Given the description of an element on the screen output the (x, y) to click on. 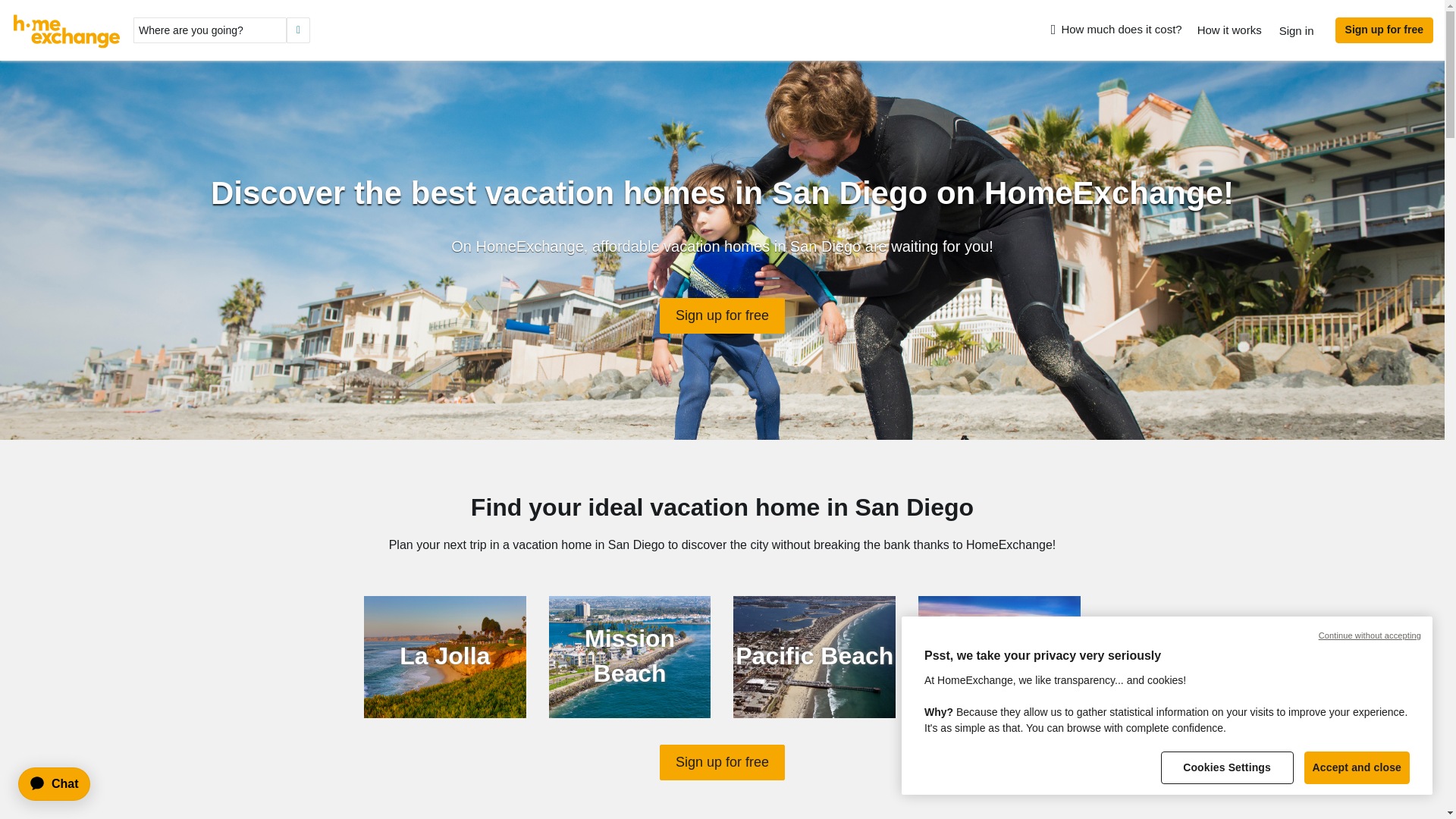
Sign up for free (1383, 30)
Homeexchange-gr Chat Button Frame (61, 784)
Sign up for free (721, 762)
Sign up for free (721, 316)
Sign in (1296, 29)
Mission Beach (629, 656)
Ocean Beach (999, 656)
How much does it cost? (1116, 30)
La Jolla (444, 656)
Search (298, 30)
Pacific Beach (814, 656)
How it works (1229, 30)
